Given the description of an element on the screen output the (x, y) to click on. 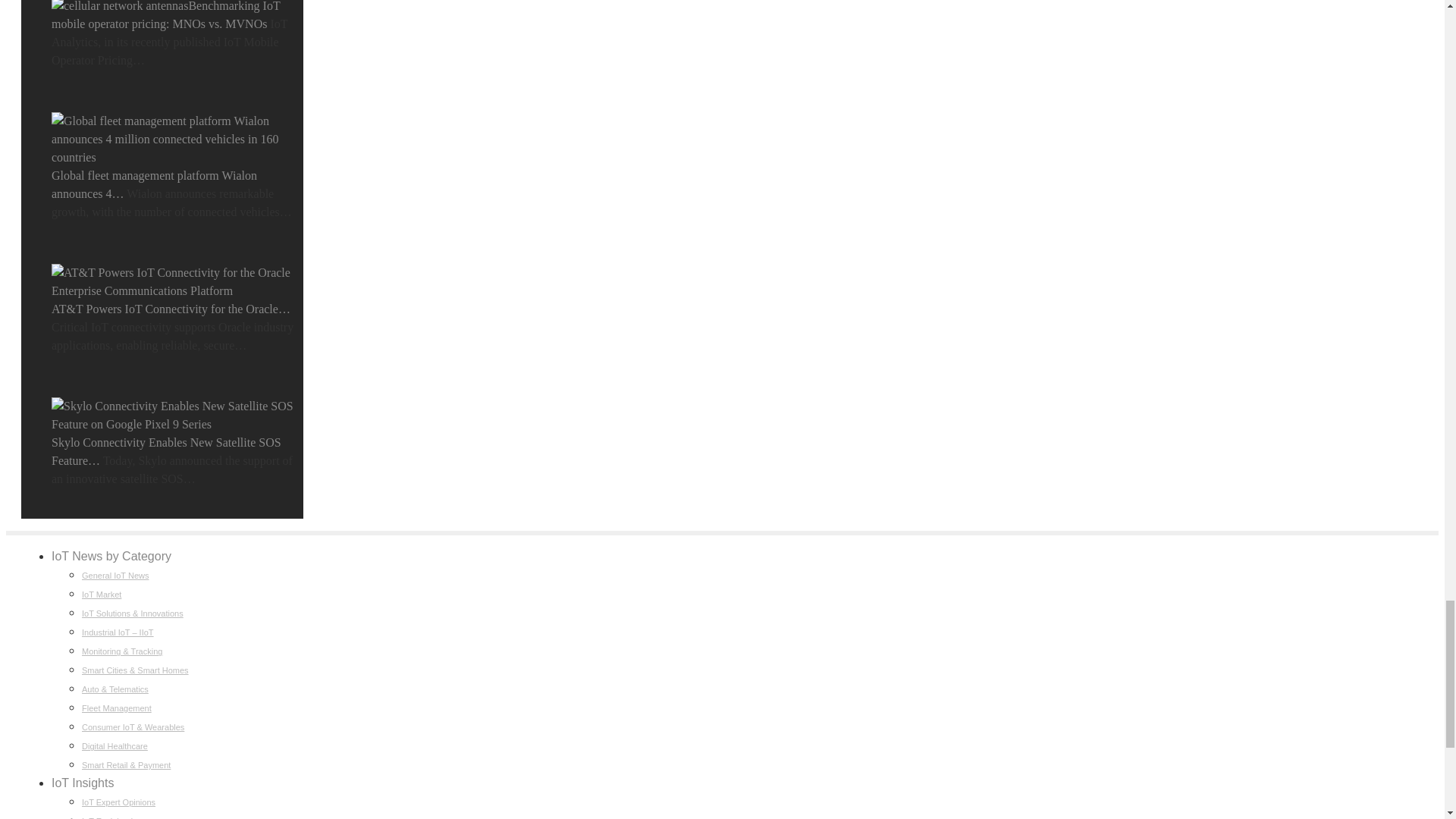
WebAnalytics (902, 541)
Internet Audience (902, 538)
Benchmarking IoT mobile operator pricing: MNOs vs. MVNOs (118, 7)
